Given the description of an element on the screen output the (x, y) to click on. 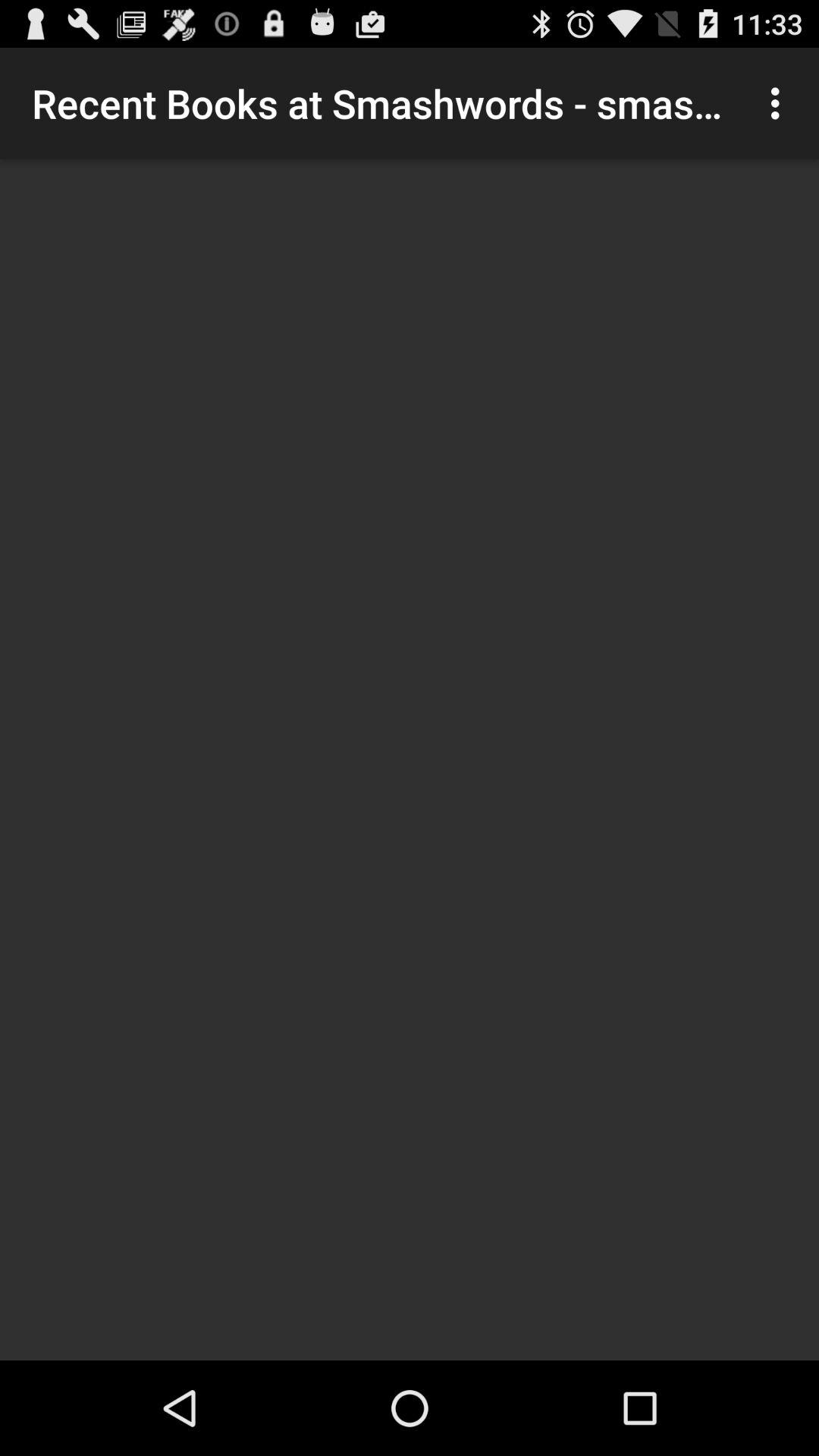
tap the item at the center (409, 759)
